Given the description of an element on the screen output the (x, y) to click on. 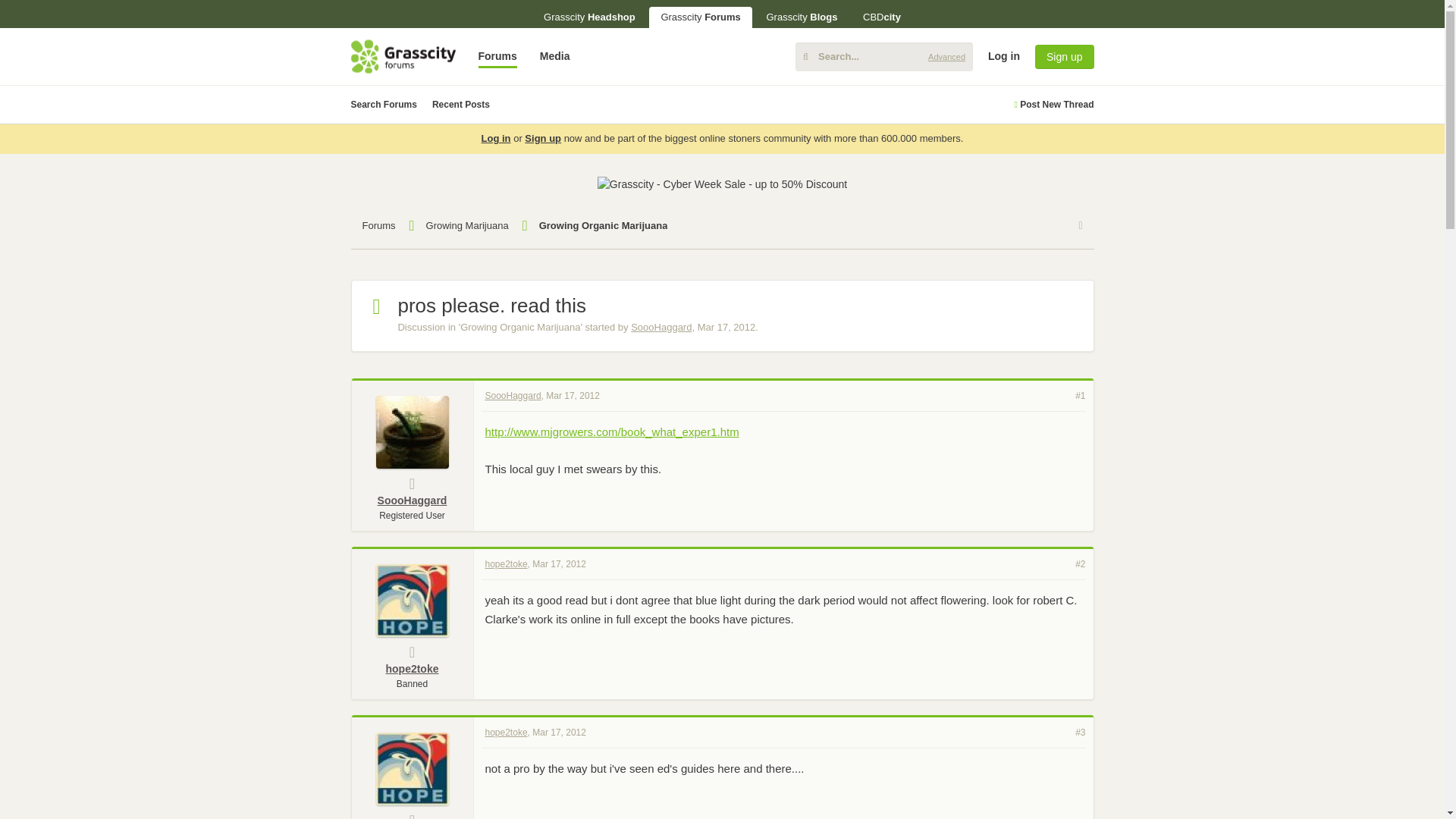
Log in (1316, 172)
Media (554, 56)
CBDcity (881, 16)
Grasscity Headshop (589, 16)
Sign up (1064, 56)
Advanced (946, 56)
Permalink (572, 394)
Forums (497, 56)
Recent Posts (460, 104)
Grasscity Blogs (801, 16)
